Given the description of an element on the screen output the (x, y) to click on. 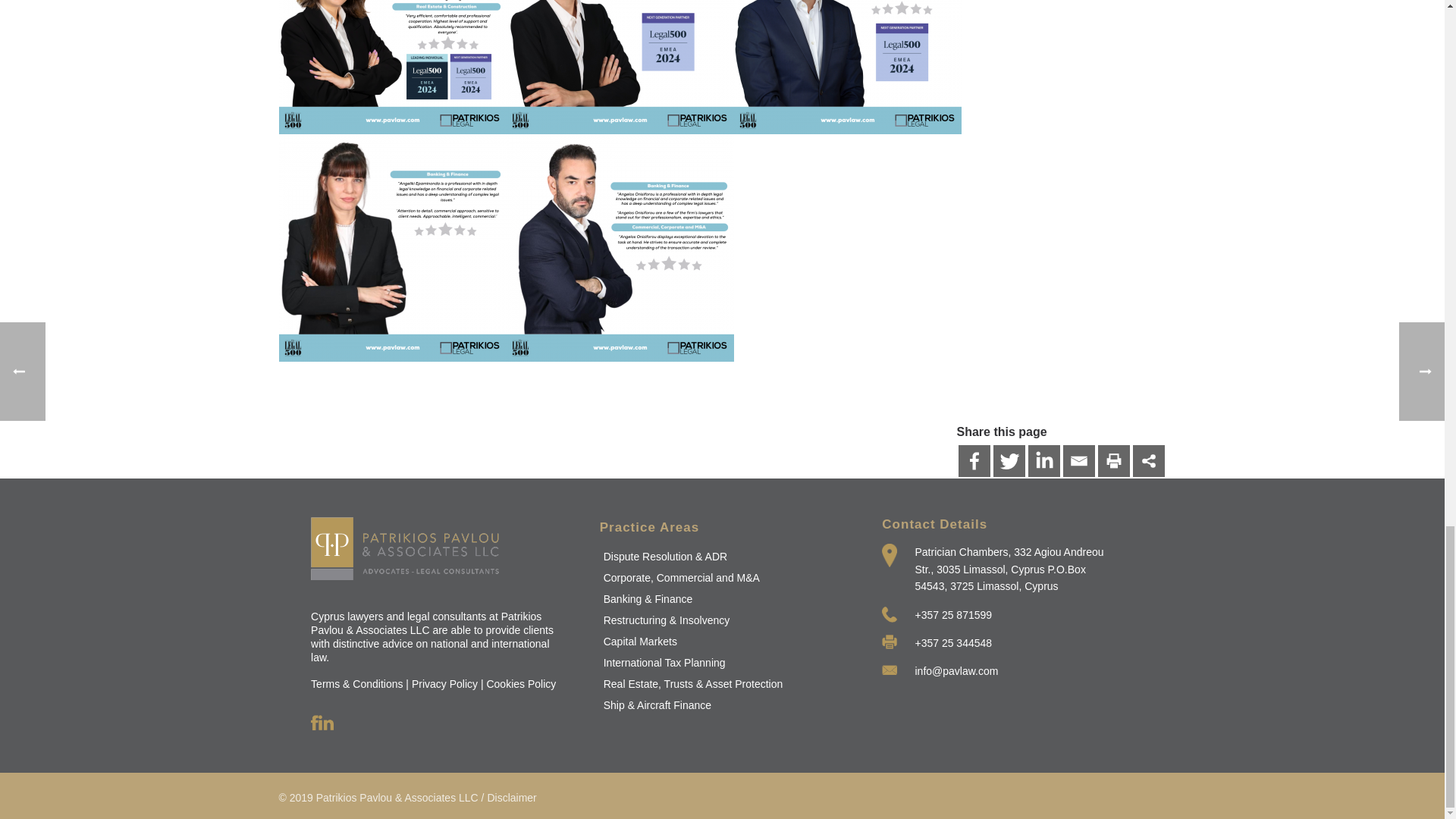
More (1148, 460)
Print (1113, 460)
Linkedin (1043, 460)
Facebook (974, 460)
Twitter (1008, 460)
Email (1078, 460)
